Given the description of an element on the screen output the (x, y) to click on. 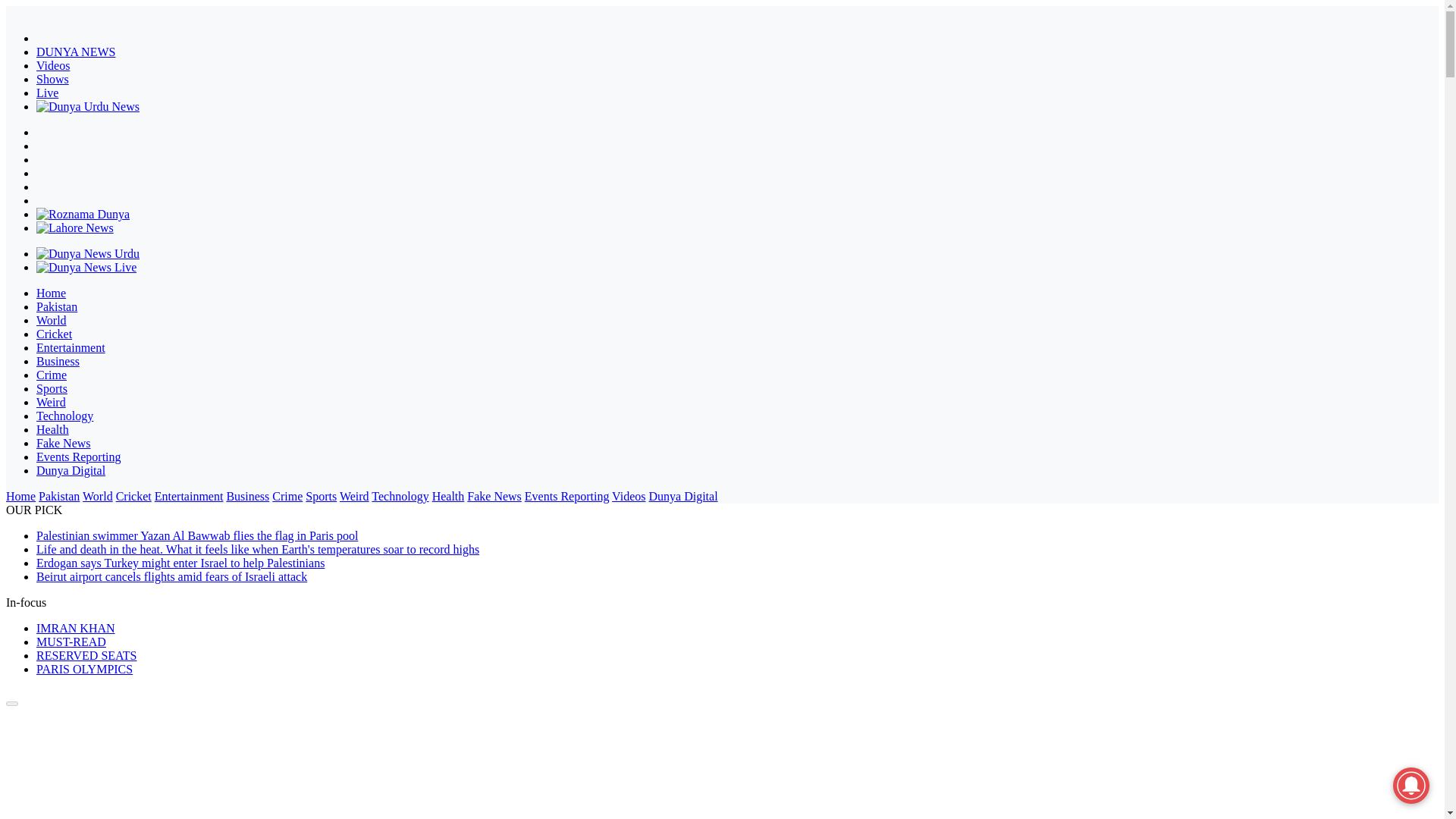
Home (19, 495)
Events Reporting (78, 456)
Videos (52, 65)
Pakistan (56, 306)
Sports (320, 495)
Cricket (53, 333)
Weird (50, 401)
Fake News (63, 442)
Dunya Digital (70, 470)
Business (58, 360)
Crime (287, 495)
Health (52, 429)
Technology (64, 415)
Live (47, 92)
Home (50, 292)
